Given the description of an element on the screen output the (x, y) to click on. 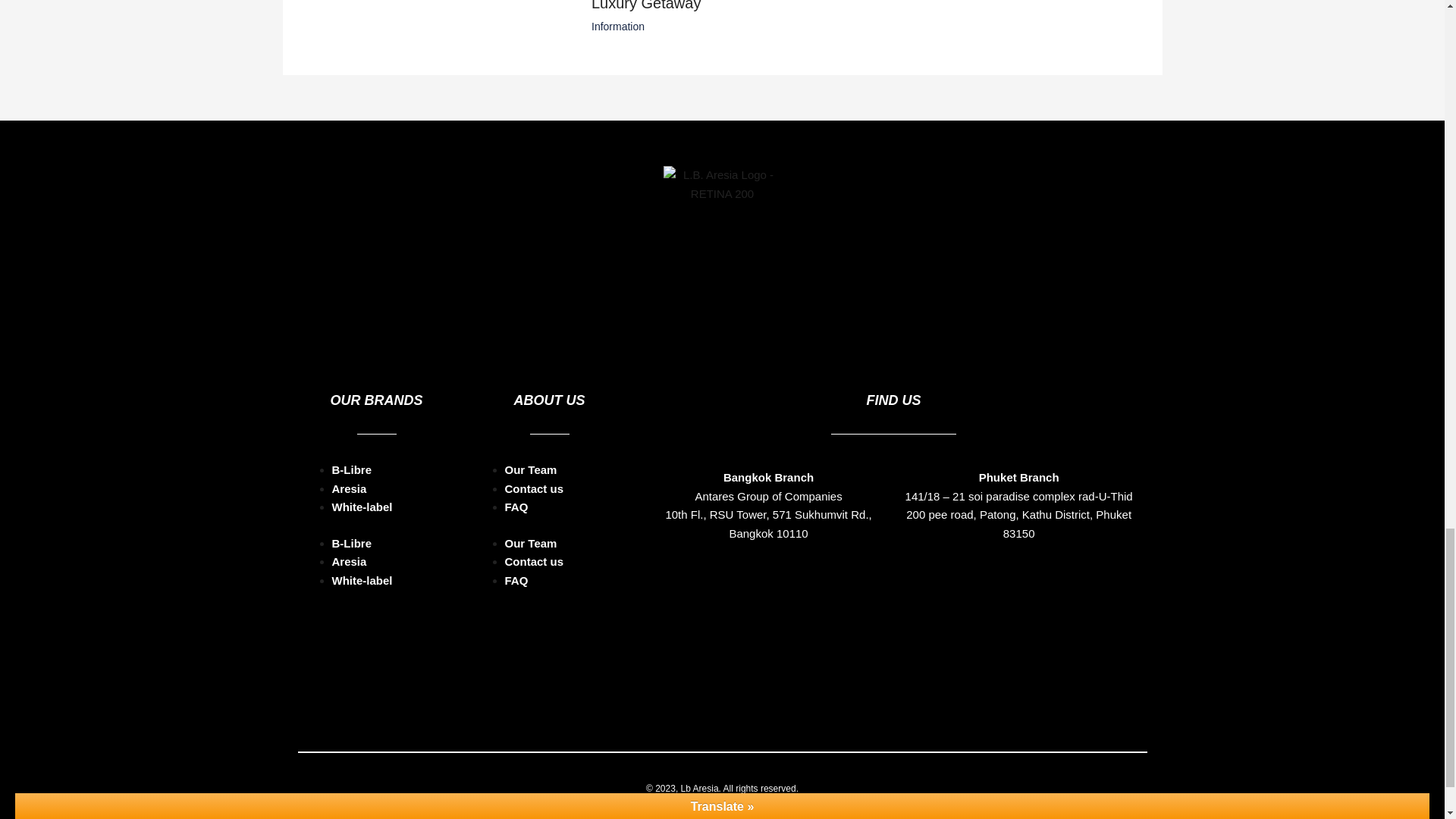
Information (618, 26)
White-label (362, 580)
Aresia (348, 488)
B-Libre (351, 543)
White-label (362, 506)
The Rise of Glamping: A Sustainable Luxury Getaway (714, 5)
Aresia (348, 561)
B-Libre (351, 469)
Melki.Biz Web Design (763, 807)
